Given the description of an element on the screen output the (x, y) to click on. 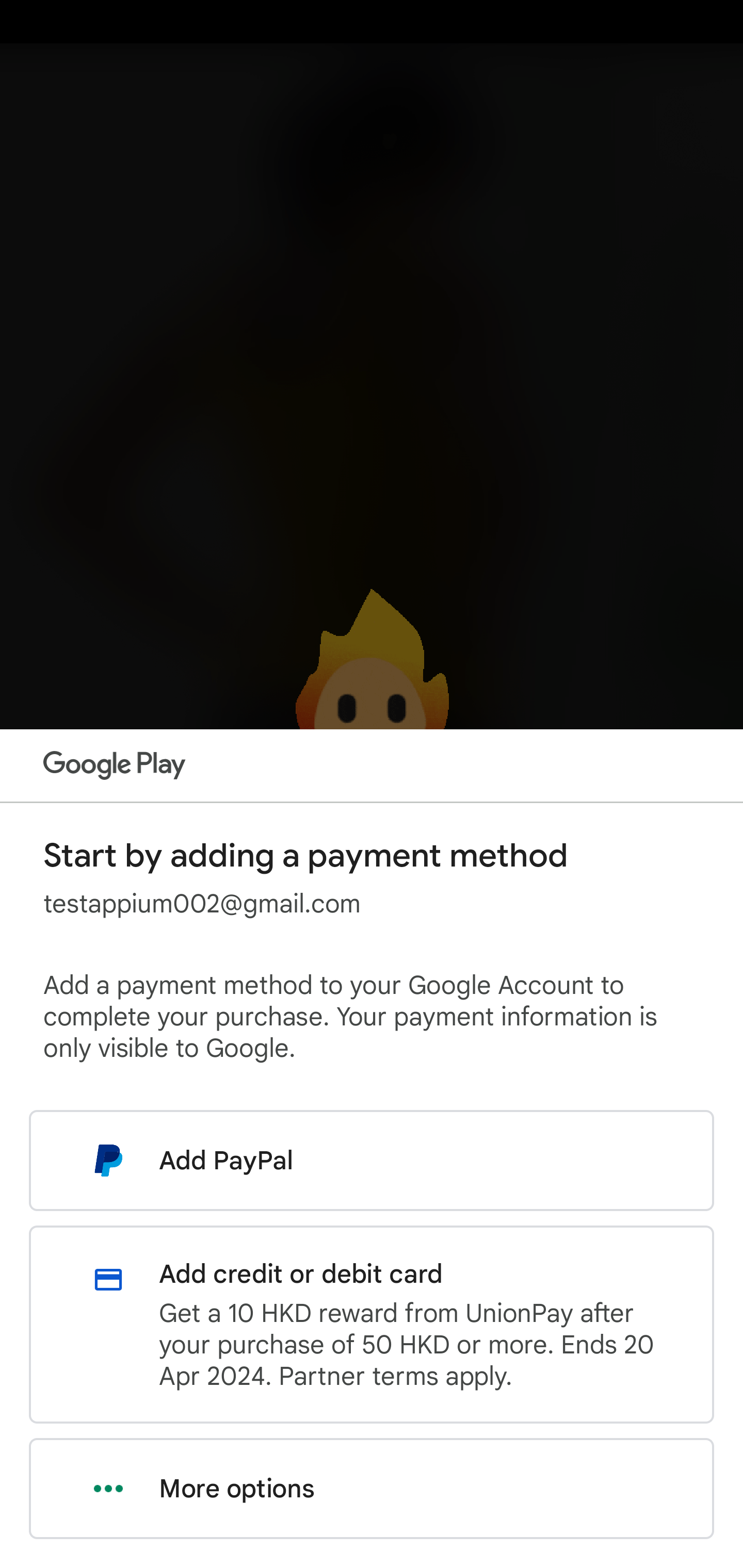
Add PayPal (371, 1160)
More options (371, 1488)
